Given the description of an element on the screen output the (x, y) to click on. 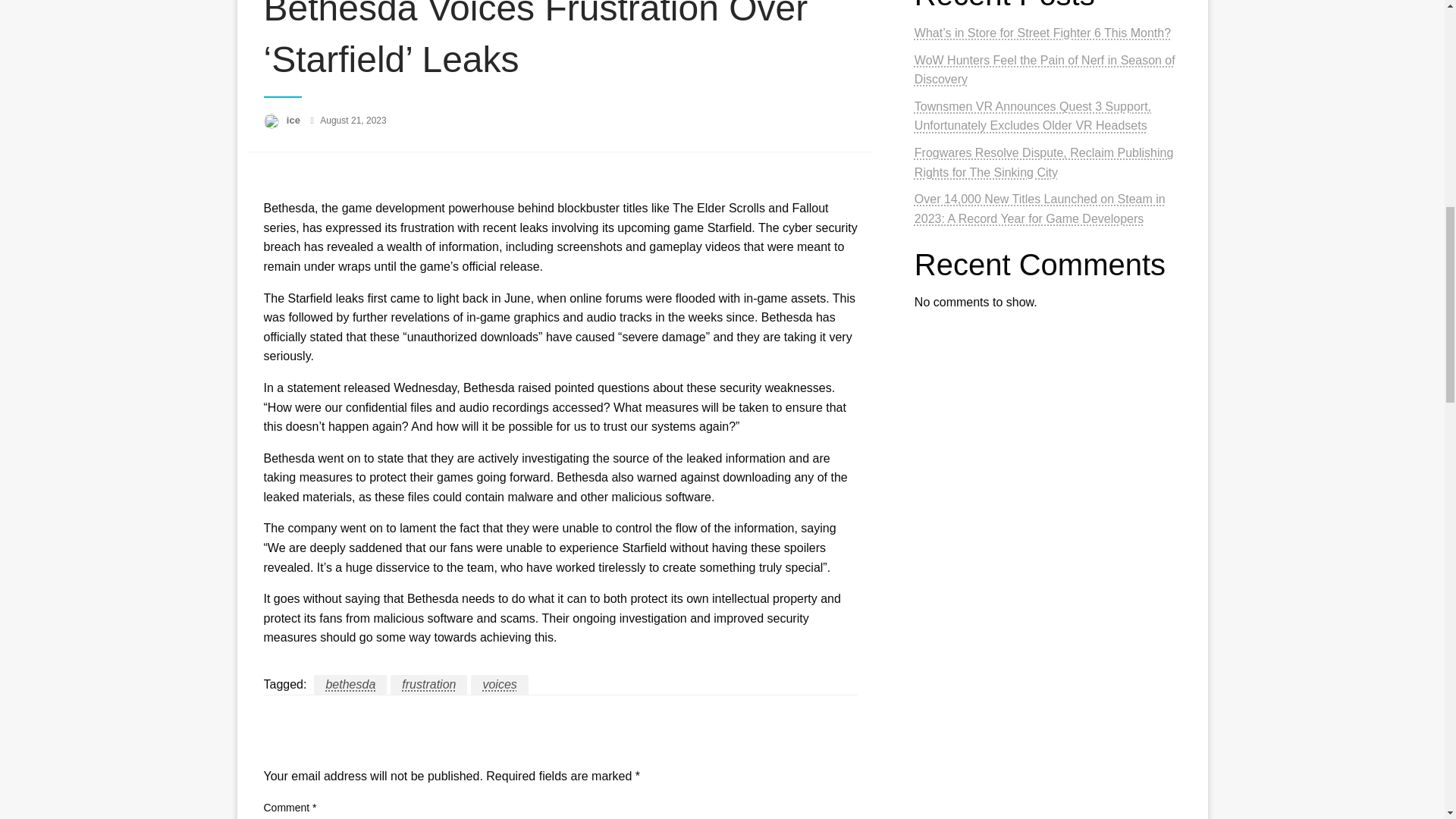
frustration (428, 684)
ice (294, 120)
ice (294, 120)
WoW Hunters Feel the Pain of Nerf in Season of Discovery (1044, 70)
bethesda (350, 684)
August 21, 2023 (352, 120)
voices (498, 684)
